Given the description of an element on the screen output the (x, y) to click on. 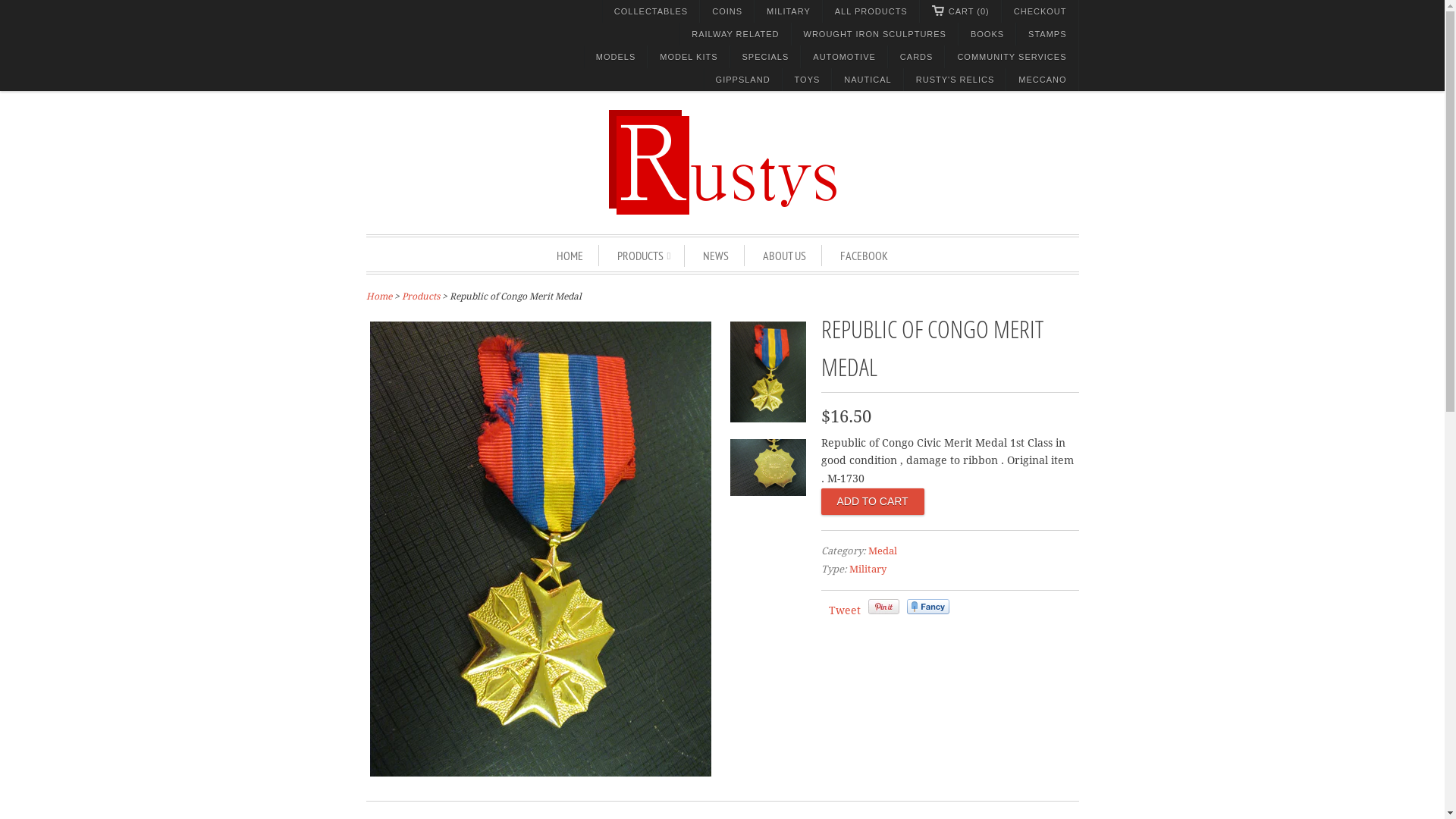
Republic of Congo Merit Medal Element type: hover (767, 374)
Fancy Element type: text (927, 606)
Pin It Element type: text (882, 606)
CART (0) Element type: text (960, 11)
GIPPSLAND Element type: text (742, 79)
COLLECTABLES Element type: text (650, 11)
NEWS Element type: text (715, 255)
MODEL KITS Element type: text (688, 56)
BOOKS Element type: text (987, 33)
STAMPS Element type: text (1047, 33)
AUTOMOTIVE Element type: text (843, 56)
Medal Element type: text (881, 550)
Rustys Element type: hover (721, 164)
MODELS Element type: text (615, 56)
Republic of Congo Merit Medal Element type: hover (540, 772)
FACEBOOK Element type: text (864, 255)
NAUTICAL Element type: text (867, 79)
Products Element type: text (420, 296)
HOME Element type: text (569, 255)
SPECIALS Element type: text (765, 56)
CHECKOUT Element type: text (1039, 11)
Republic of Congo Merit Medal Element type: hover (767, 470)
TOYS Element type: text (807, 79)
COINS Element type: text (727, 11)
Home Element type: text (378, 296)
Add to Cart Element type: text (871, 501)
MECCANO Element type: text (1042, 79)
ALL PRODUCTS Element type: text (870, 11)
ABOUT US Element type: text (784, 255)
COMMUNITY SERVICES Element type: text (1011, 56)
RAILWAY RELATED Element type: text (734, 33)
MILITARY Element type: text (788, 11)
WROUGHT IRON SCULPTURES Element type: text (874, 33)
Tweet Element type: text (843, 610)
CARDS Element type: text (916, 56)
Military Element type: text (867, 568)
RUSTY'S RELICS Element type: text (955, 79)
